Given the description of an element on the screen output the (x, y) to click on. 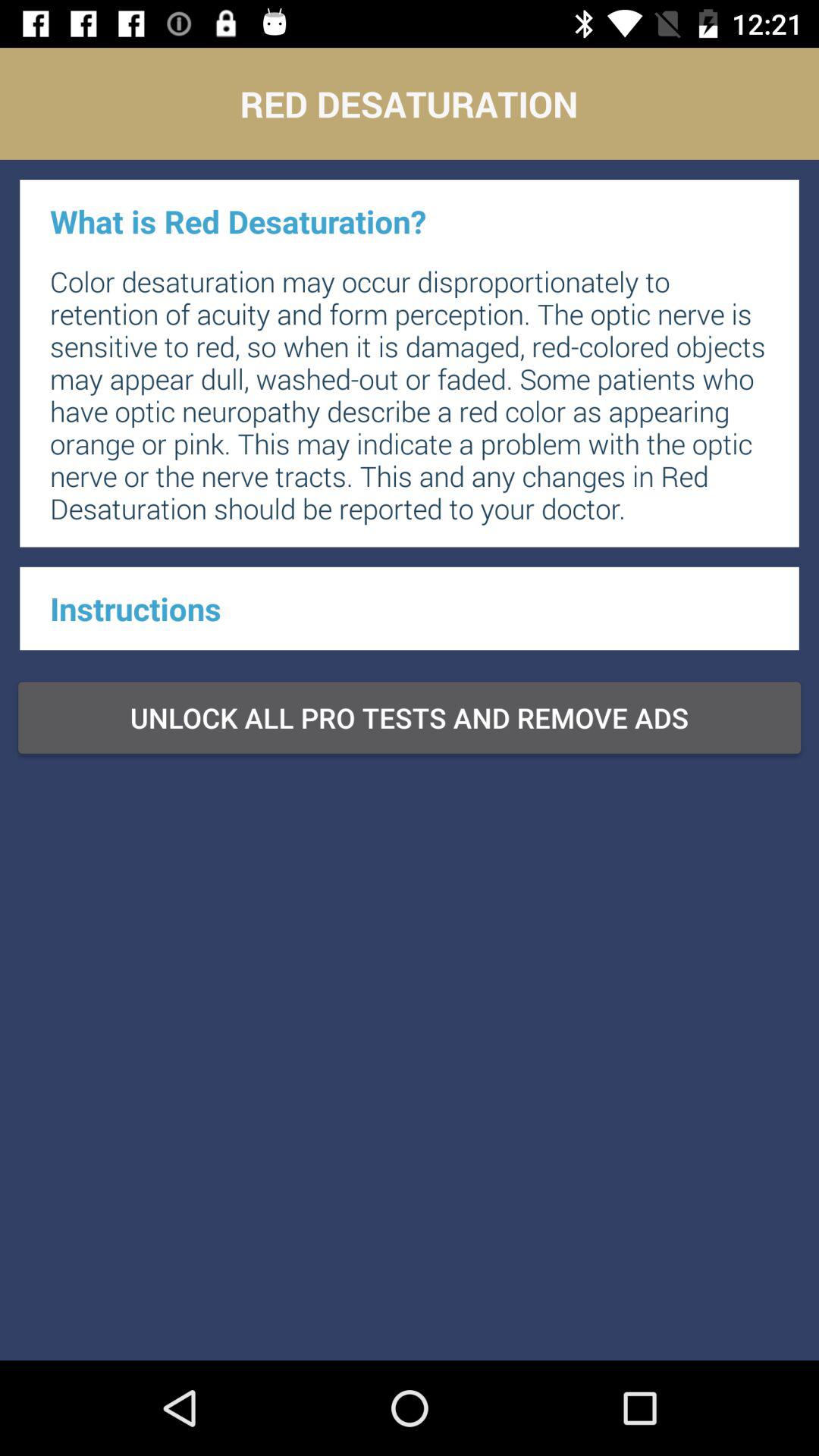
select unlock all pro button (409, 717)
